Given the description of an element on the screen output the (x, y) to click on. 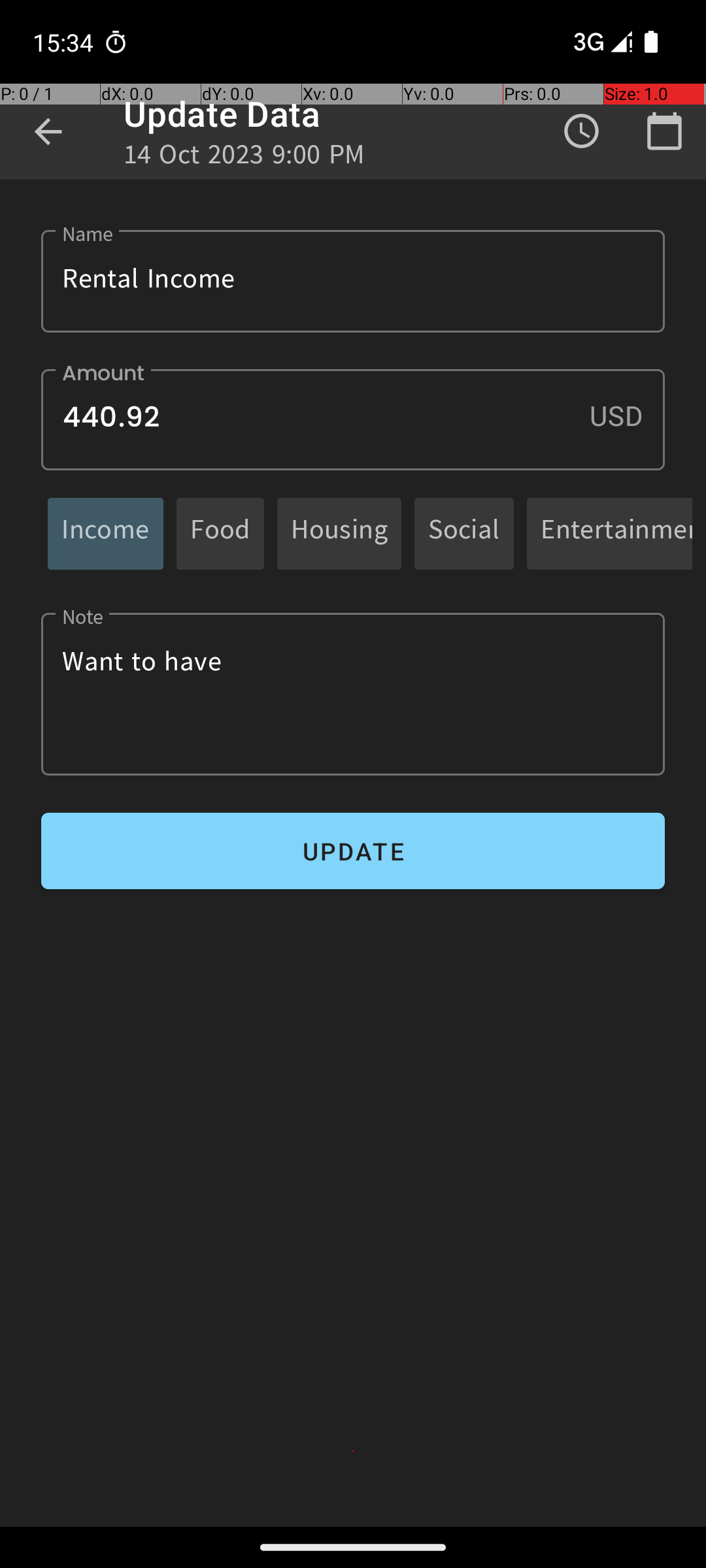
14 Oct 2023 9:00 PM Element type: android.widget.TextView (244, 157)
440.92 Element type: android.widget.EditText (352, 419)
